Given the description of an element on the screen output the (x, y) to click on. 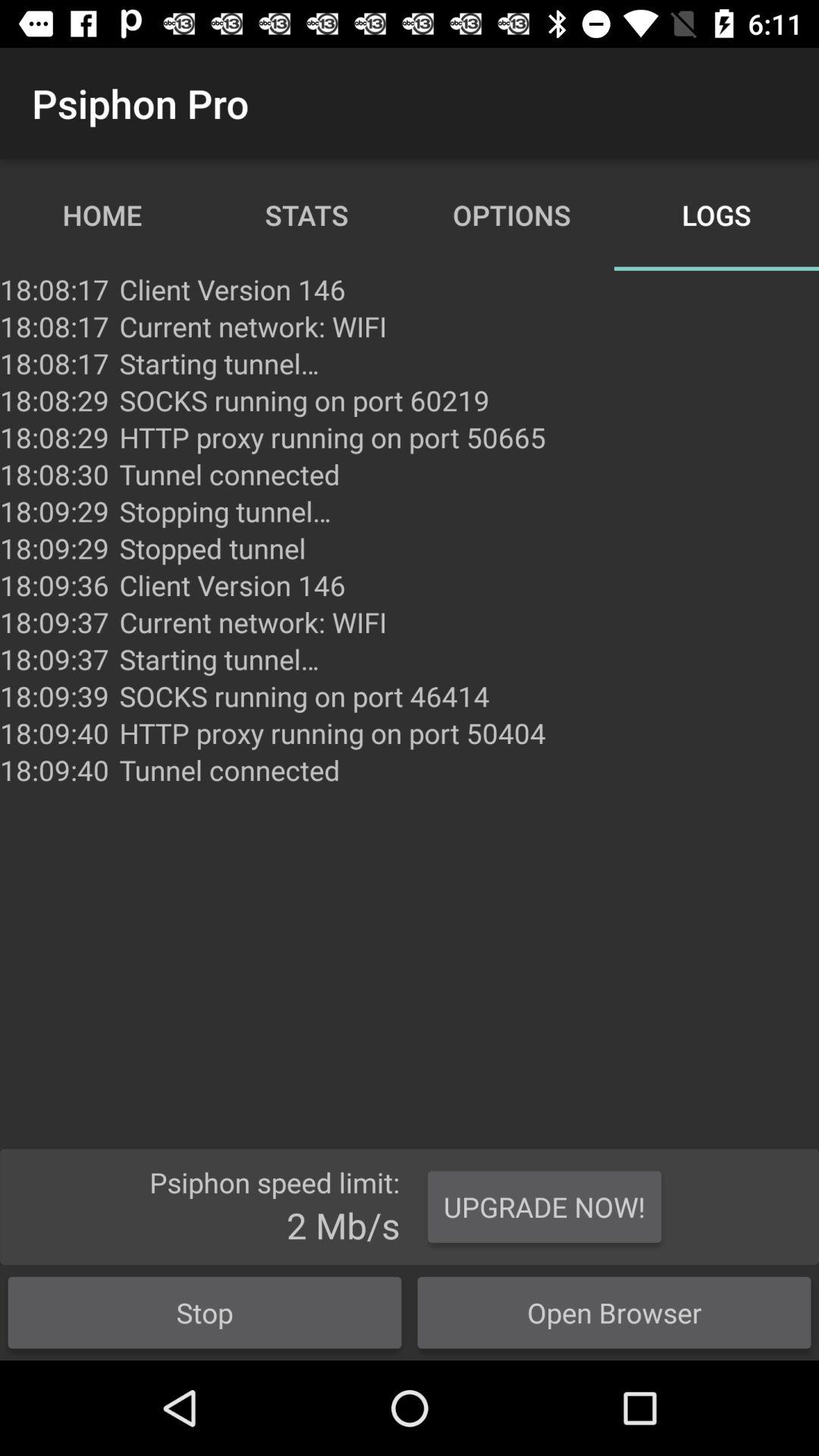
launch the stopped tunnel (212, 548)
